Given the description of an element on the screen output the (x, y) to click on. 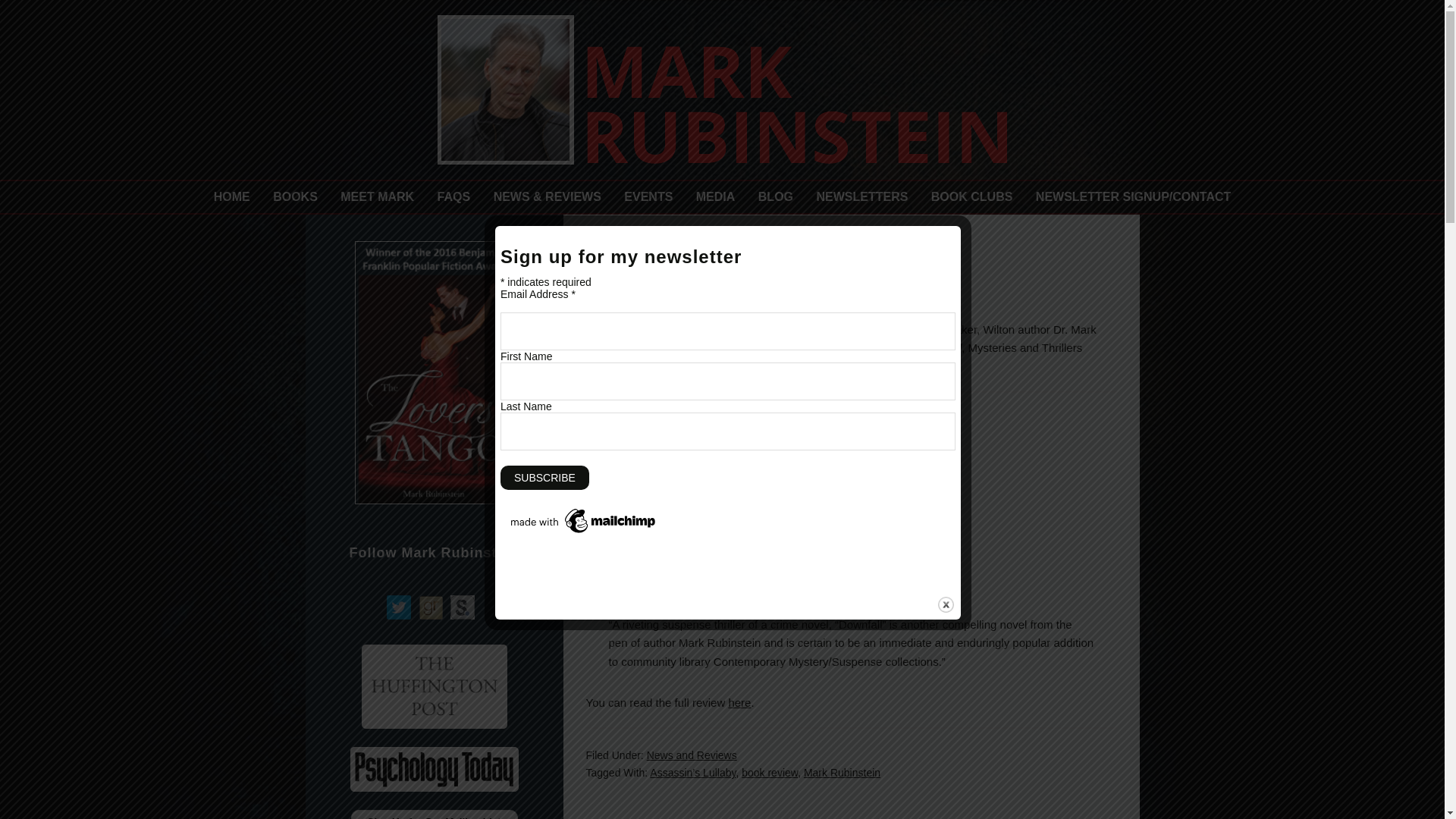
Downfall Reviewed By The Midwest Book Review (743, 527)
NEWSLETTERS (861, 197)
MEET MARK (376, 197)
FAQS (454, 197)
MEDIA (715, 197)
Leave a Comment (705, 293)
Mailchimp - email marketing made easy and fun (583, 532)
Mark Rubinstein (841, 436)
Close (945, 604)
HOME (231, 197)
BLOG (775, 197)
here (739, 702)
Follow Mark Rubinstein Social Media Scribd (461, 607)
book review (769, 436)
EVENTS (648, 197)
